Given the description of an element on the screen output the (x, y) to click on. 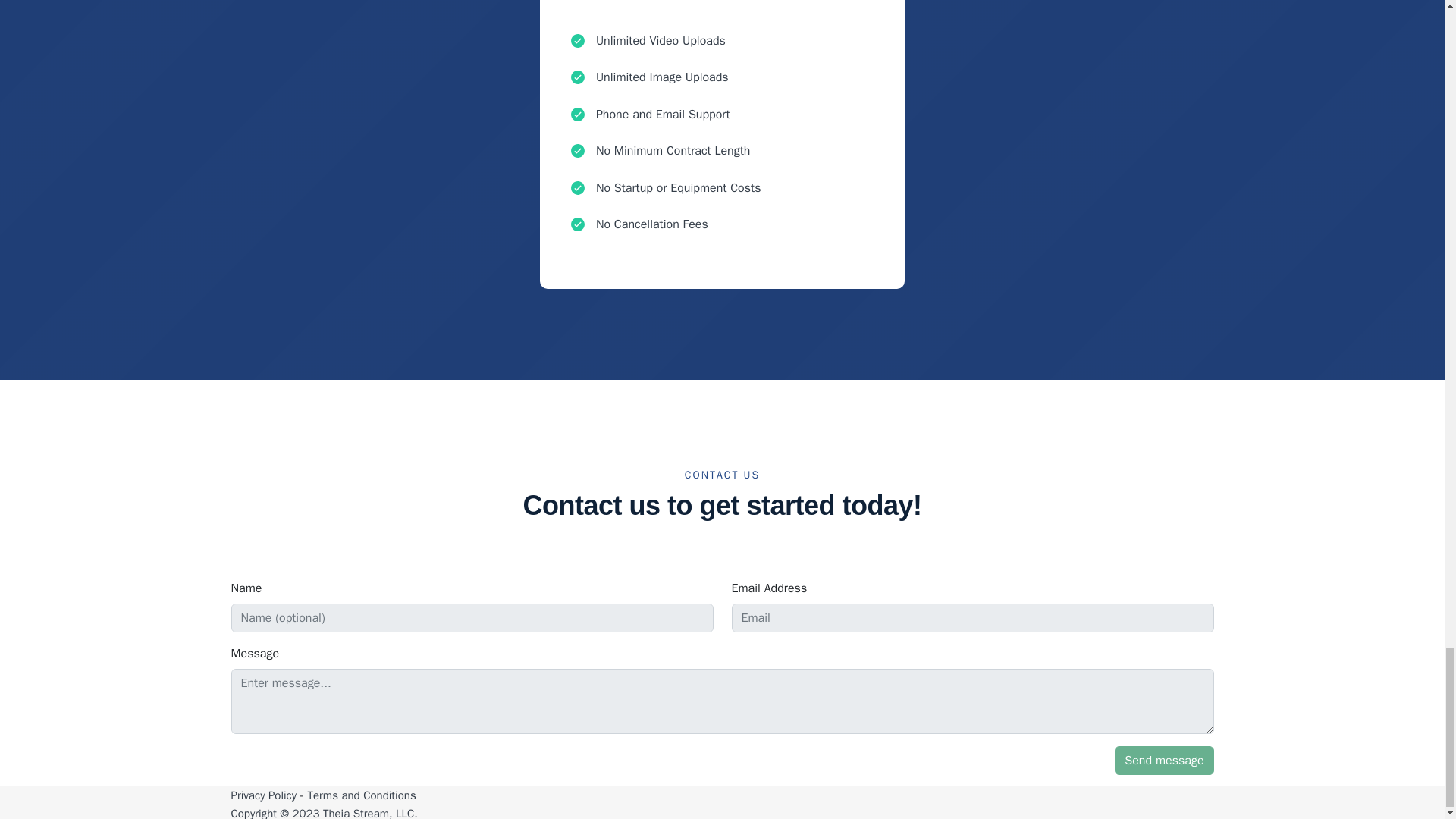
Send message (1163, 760)
Privacy Policy (263, 795)
Terms and Conditions (360, 795)
